Given the description of an element on the screen output the (x, y) to click on. 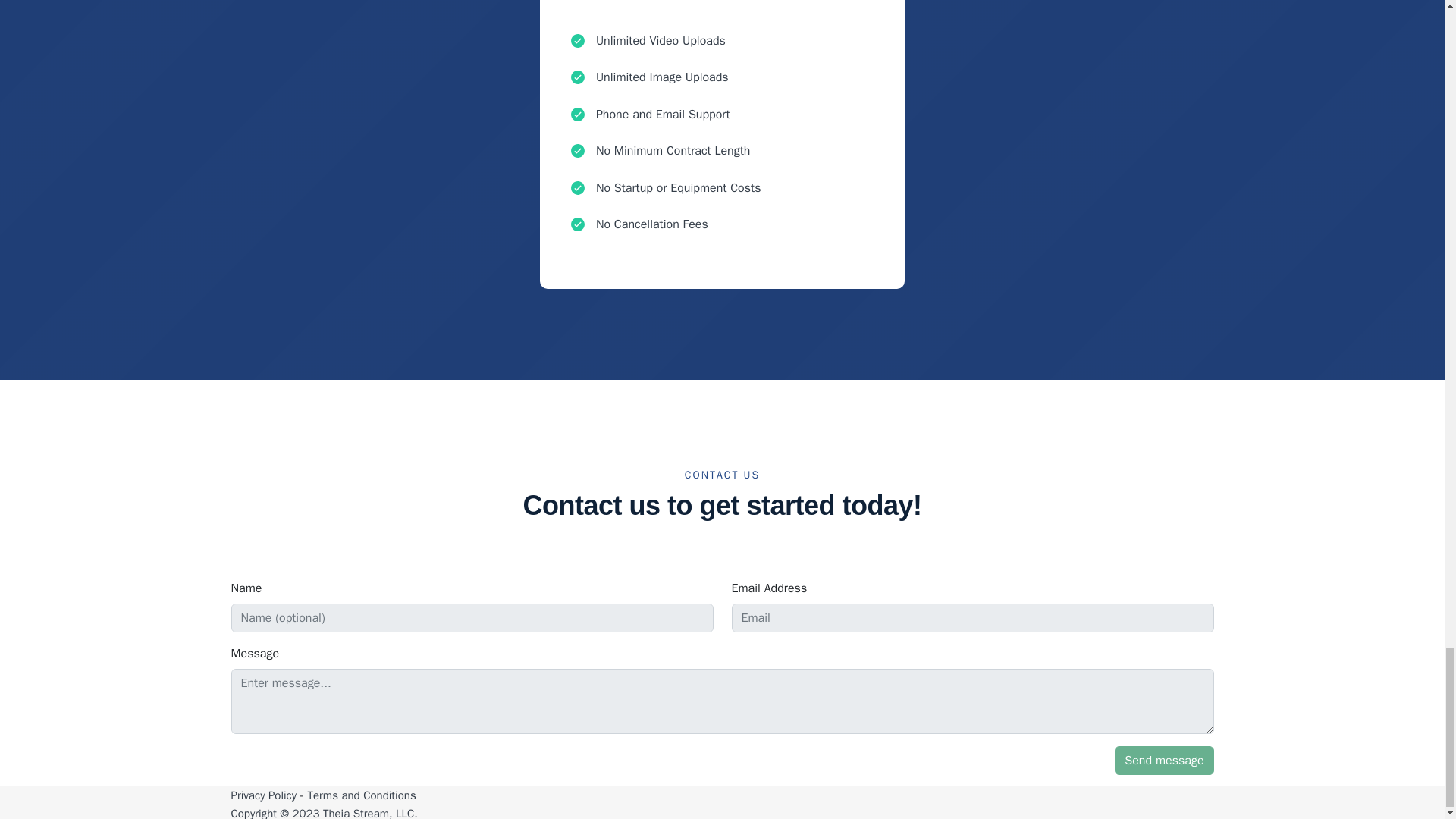
Send message (1163, 760)
Privacy Policy (263, 795)
Terms and Conditions (360, 795)
